Given the description of an element on the screen output the (x, y) to click on. 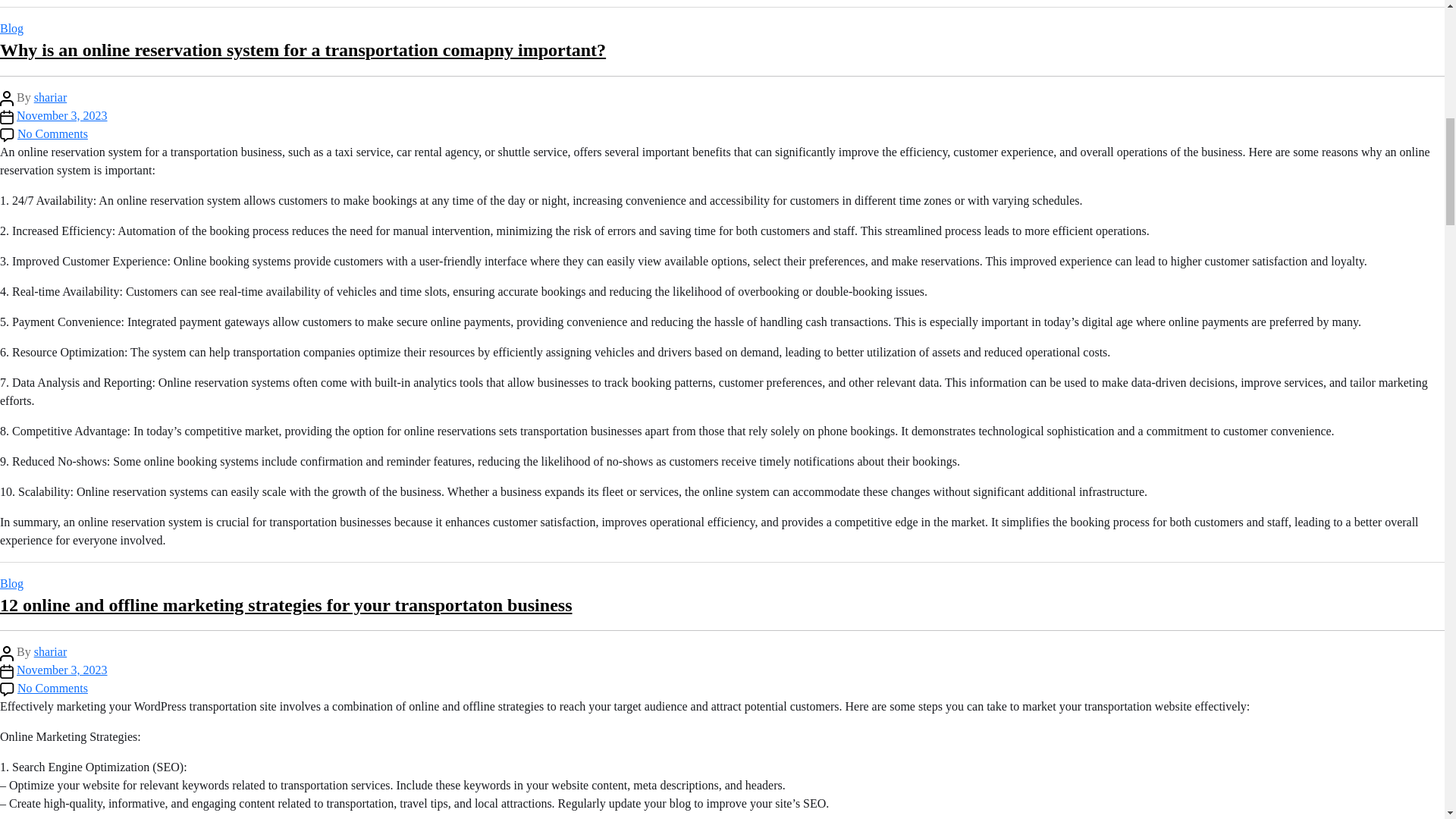
shariar (49, 97)
November 3, 2023 (61, 115)
November 3, 2023 (61, 669)
Blog (11, 28)
Blog (11, 583)
shariar (49, 651)
